Given the description of an element on the screen output the (x, y) to click on. 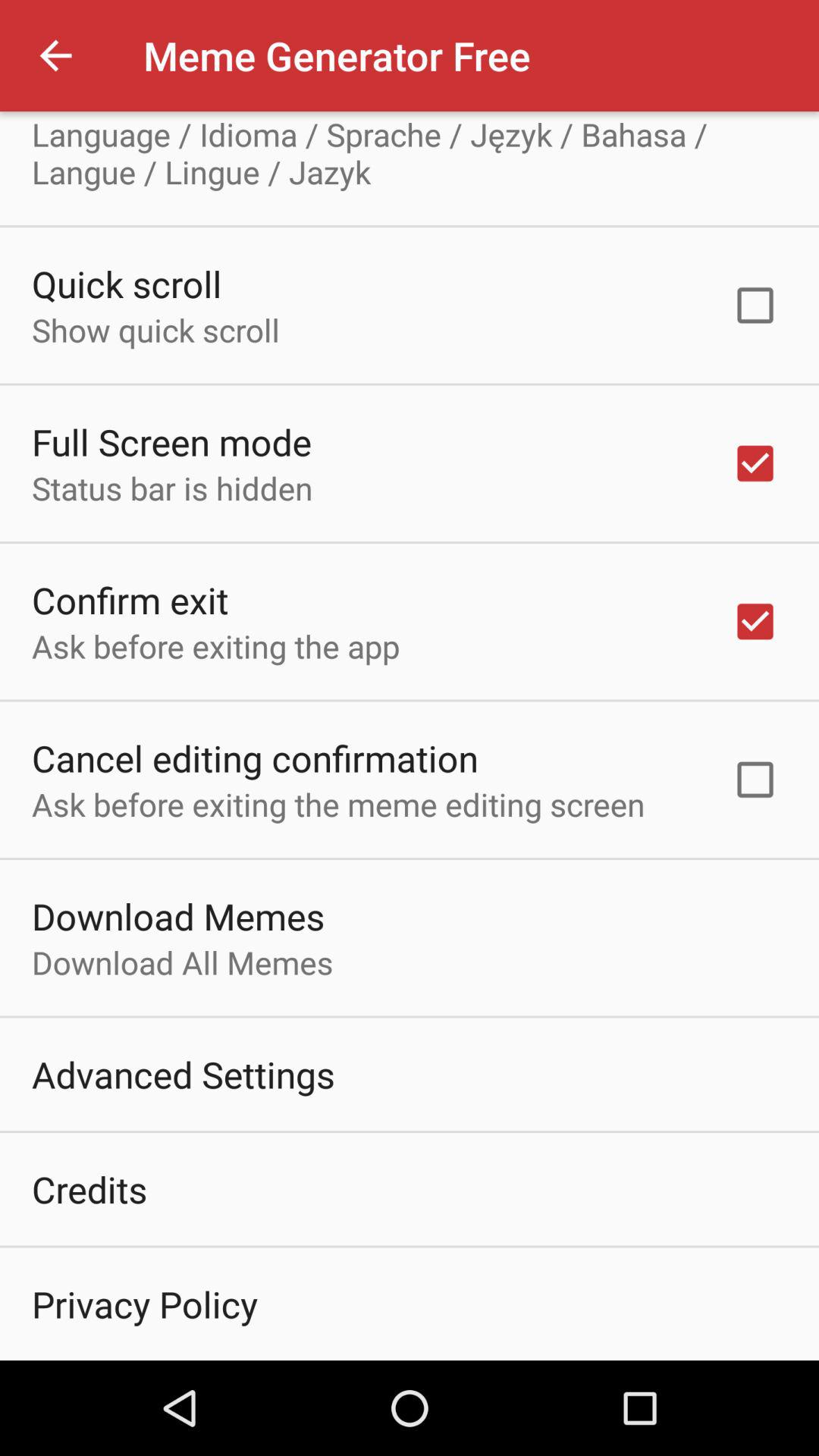
click language idioma sprache item (409, 152)
